Given the description of an element on the screen output the (x, y) to click on. 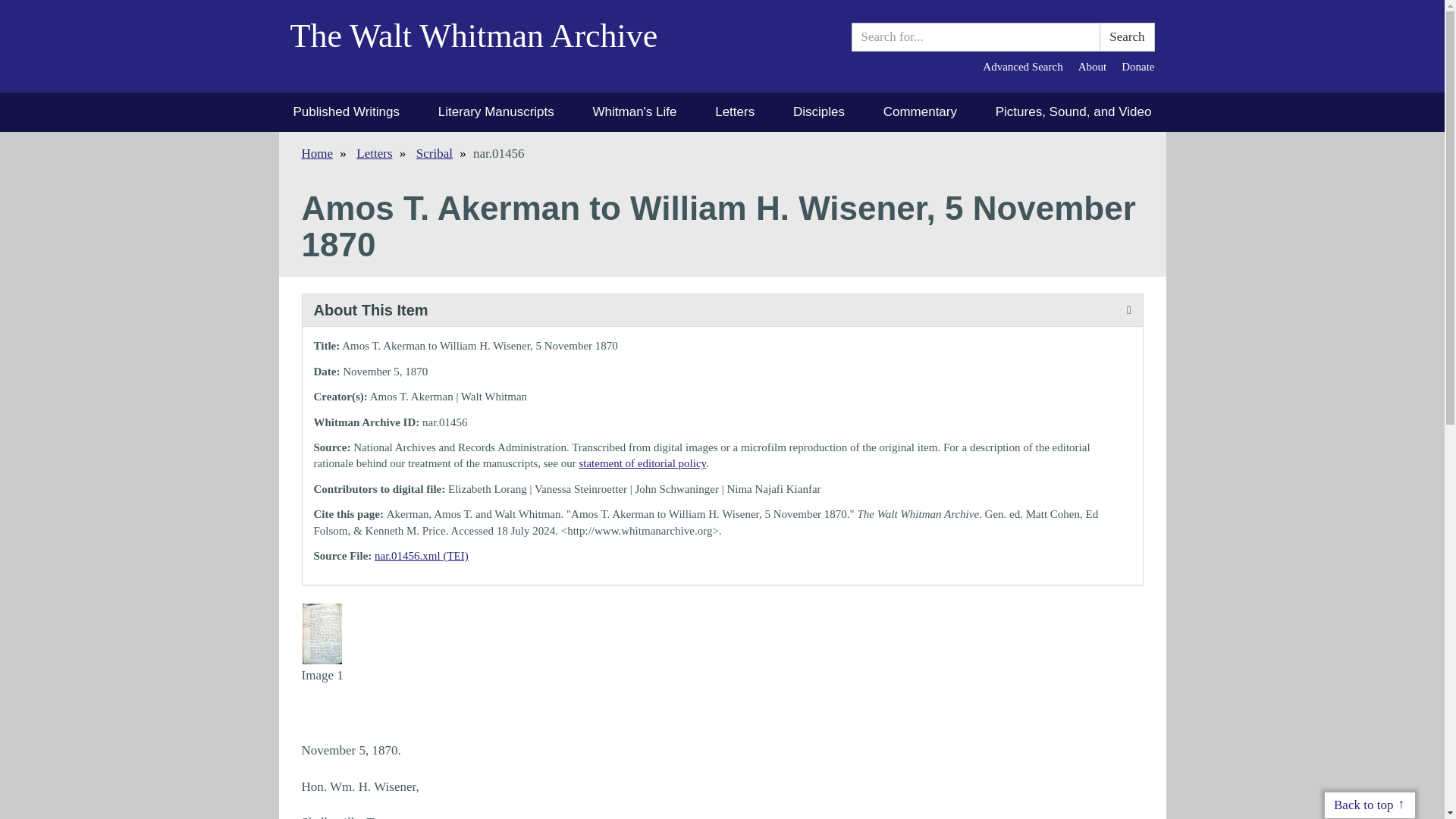
Advanced Search (1022, 66)
About This Item (721, 310)
Disciples (818, 112)
Published Writings (345, 112)
Literary Manuscripts (496, 112)
Search (1126, 36)
Letters (734, 112)
Scribal (434, 153)
Home (317, 153)
Pictures, Sound, and Video (1073, 112)
Page Image, text on page (322, 632)
About (1092, 66)
Search (1126, 36)
statement of editorial policy (642, 463)
The Walt Whitman Archive (484, 46)
